Given the description of an element on the screen output the (x, y) to click on. 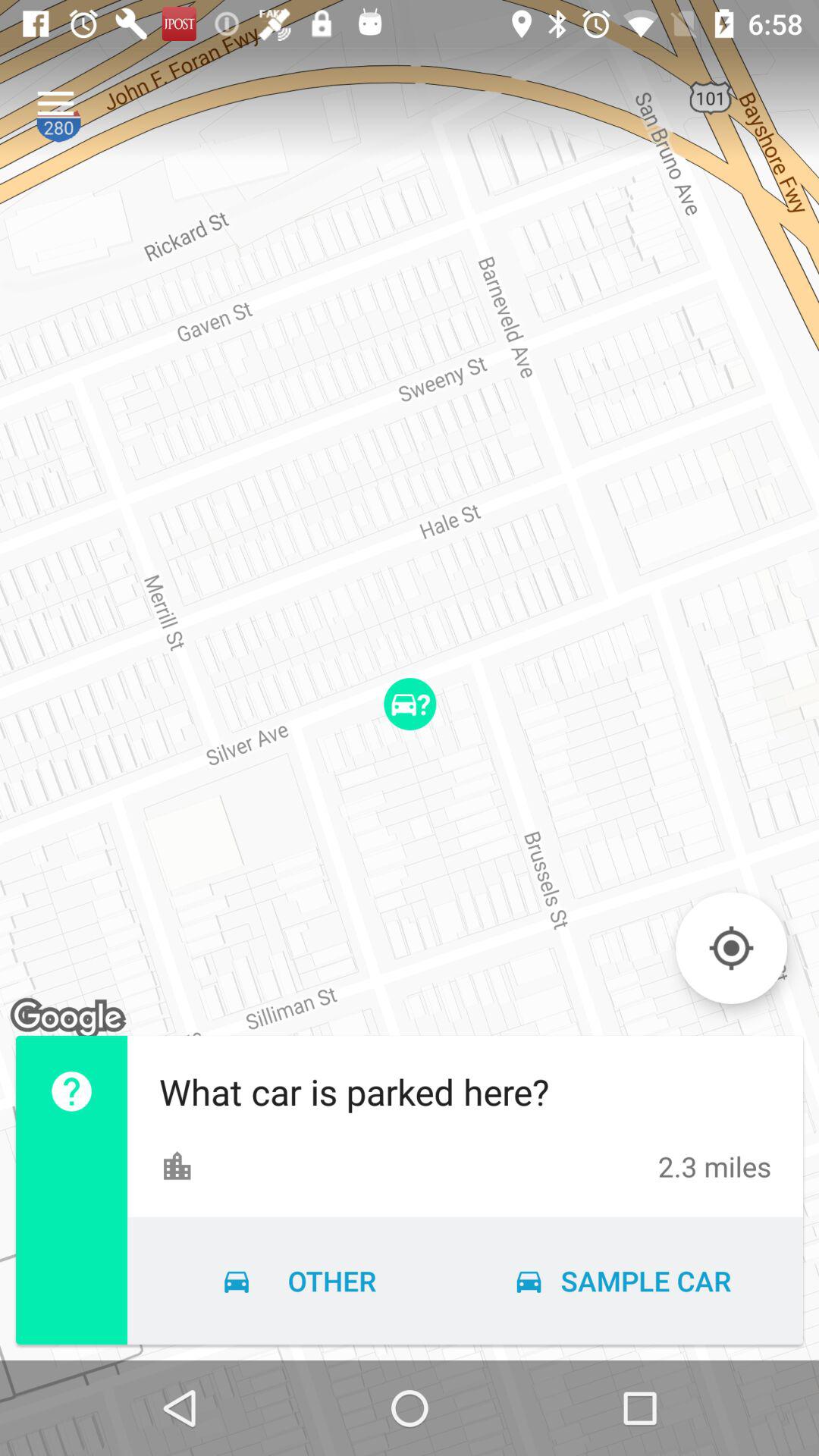
realign map (731, 947)
